Given the description of an element on the screen output the (x, y) to click on. 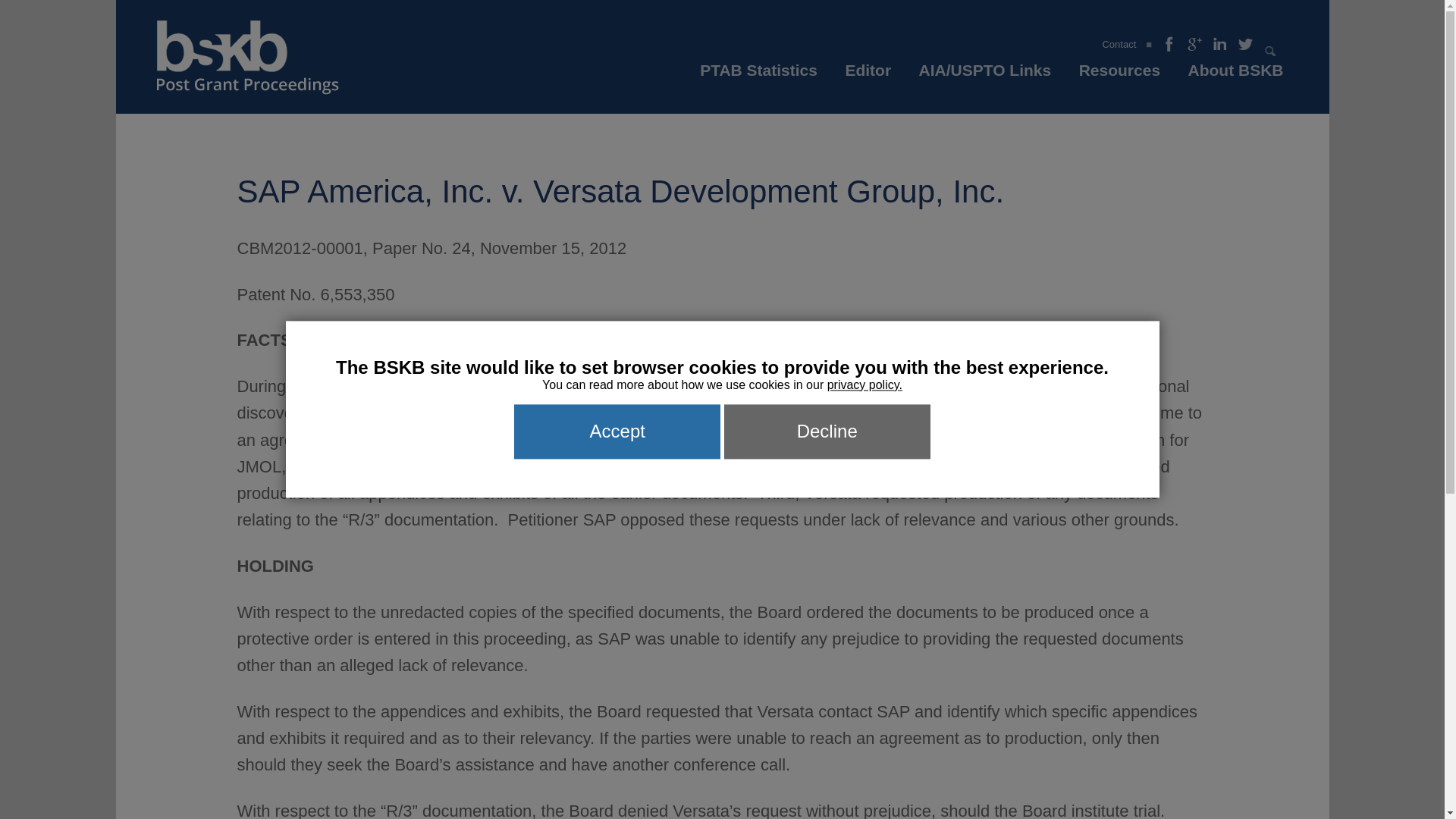
About BSKB (1236, 74)
Resources (1119, 74)
Accept (616, 431)
Go (1270, 51)
Editor (867, 74)
PTAB Statistics (758, 74)
Decline (826, 431)
privacy policy. (864, 384)
Contact (1118, 43)
